Given the description of an element on the screen output the (x, y) to click on. 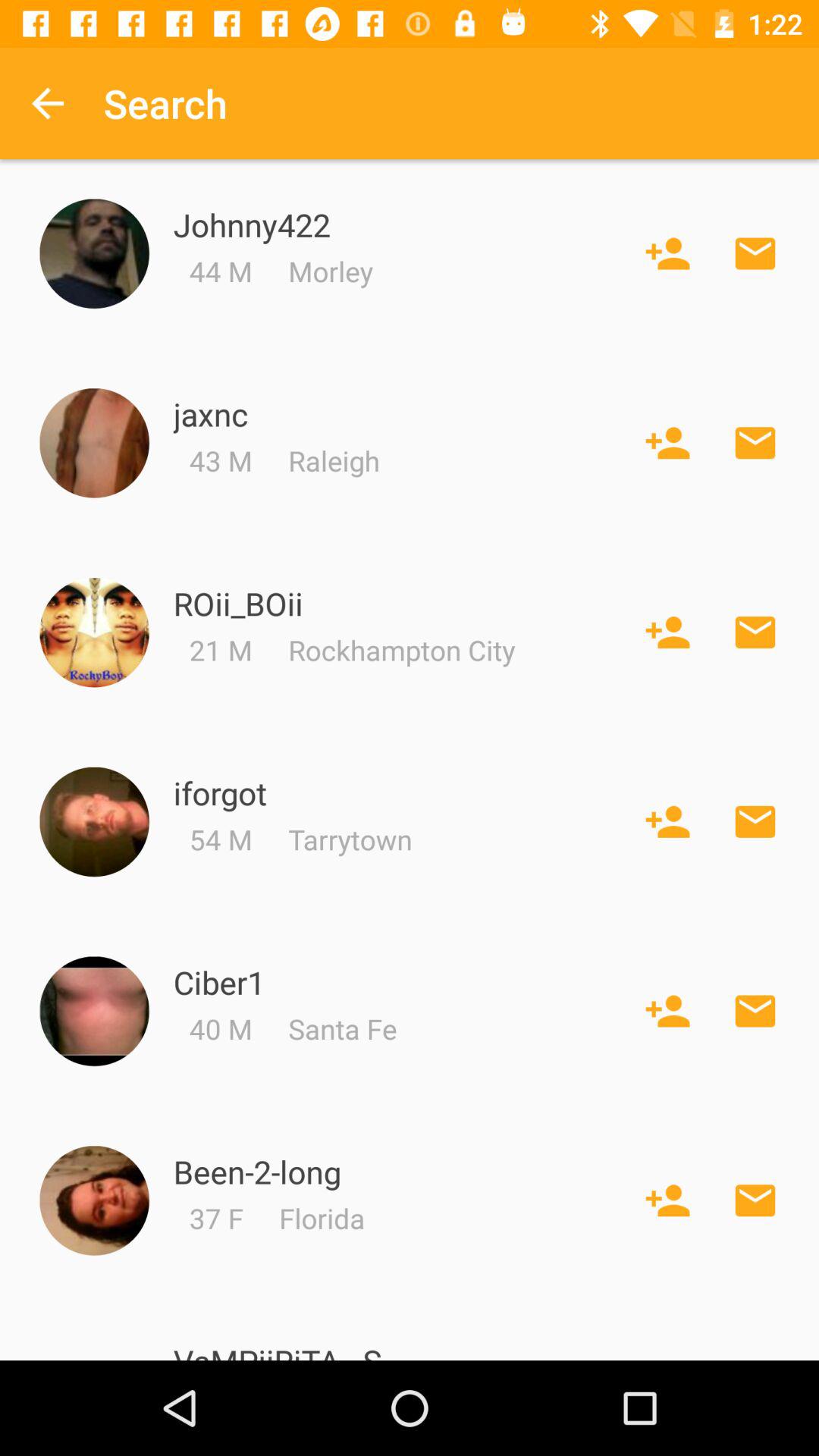
click for contact info (94, 822)
